Given the description of an element on the screen output the (x, y) to click on. 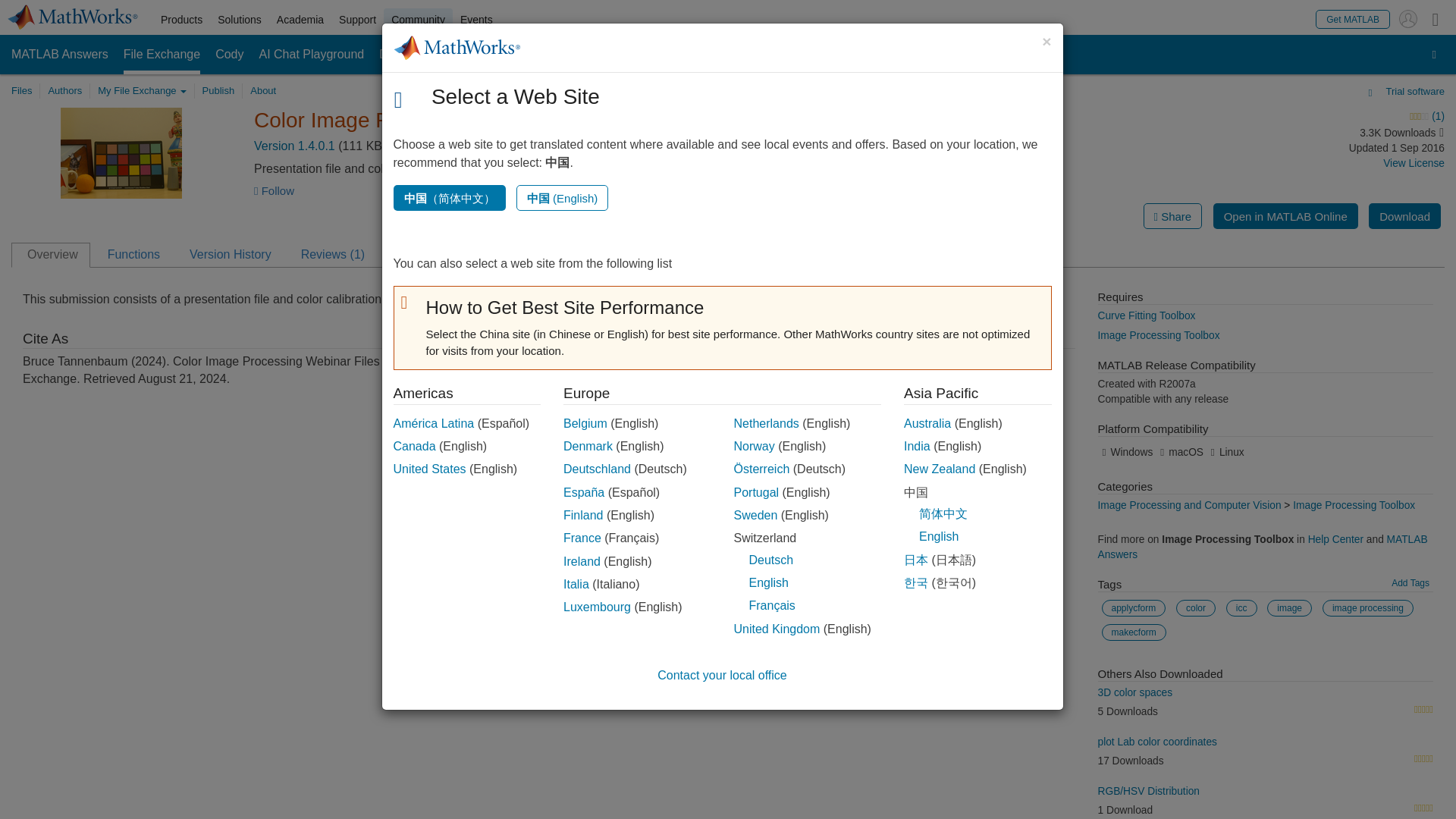
Community (418, 19)
Download (1404, 216)
5.00 out of 5 stars (1422, 759)
Products (180, 19)
5.00 out of 5 stars (1422, 710)
Academia (300, 19)
Events (476, 19)
5.00 out of 5 stars (1422, 808)
Support (357, 19)
3.00 out of 5 stars (1303, 116)
